Given the description of an element on the screen output the (x, y) to click on. 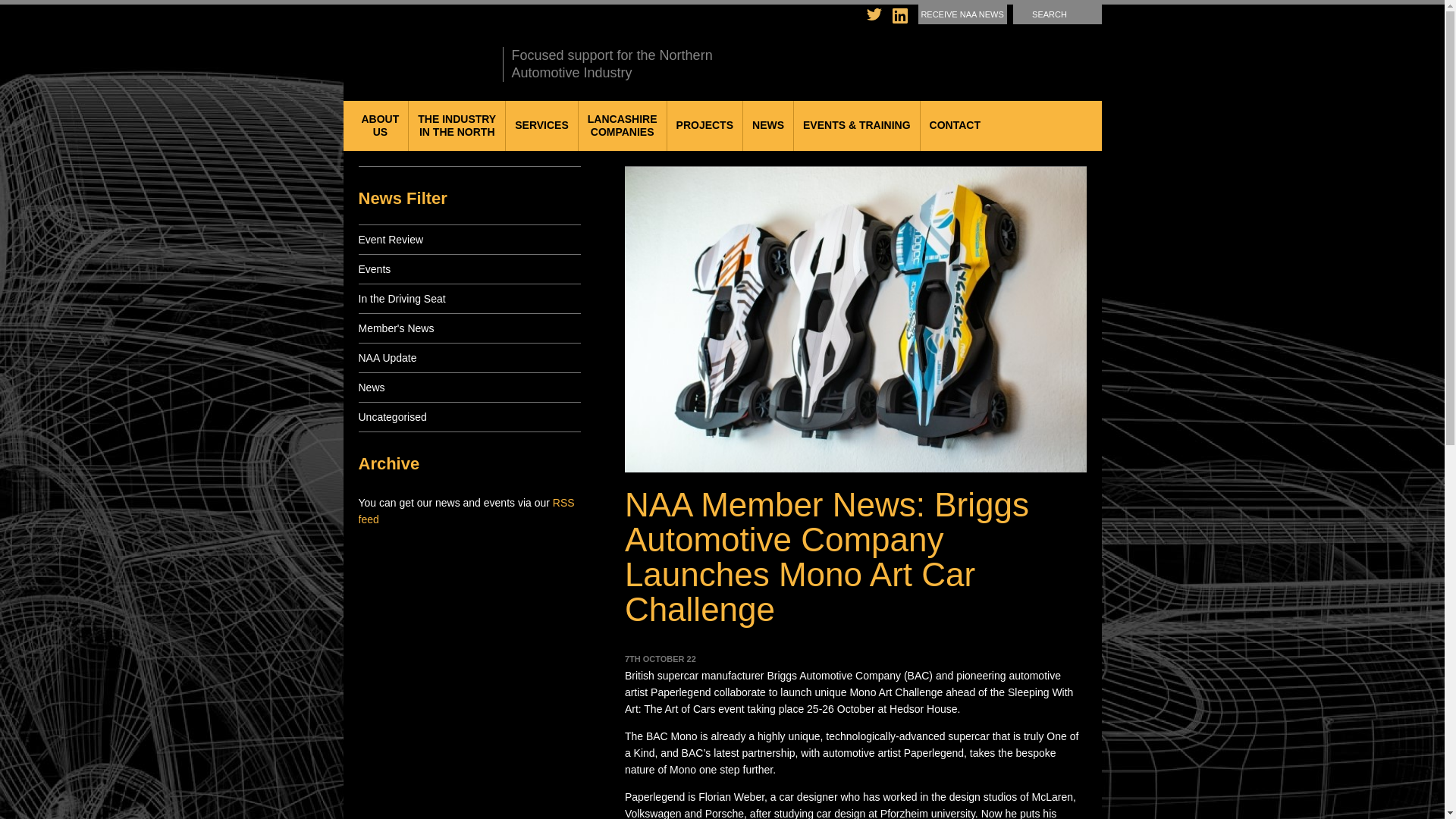
SEARCH (1057, 14)
Join us - Download the NAA membership brochure (965, 54)
PROJECTS (704, 125)
RECEIVE NAA NEWS (622, 125)
Northern Automotive Alliance (457, 125)
SERVICES (962, 14)
